Given the description of an element on the screen output the (x, y) to click on. 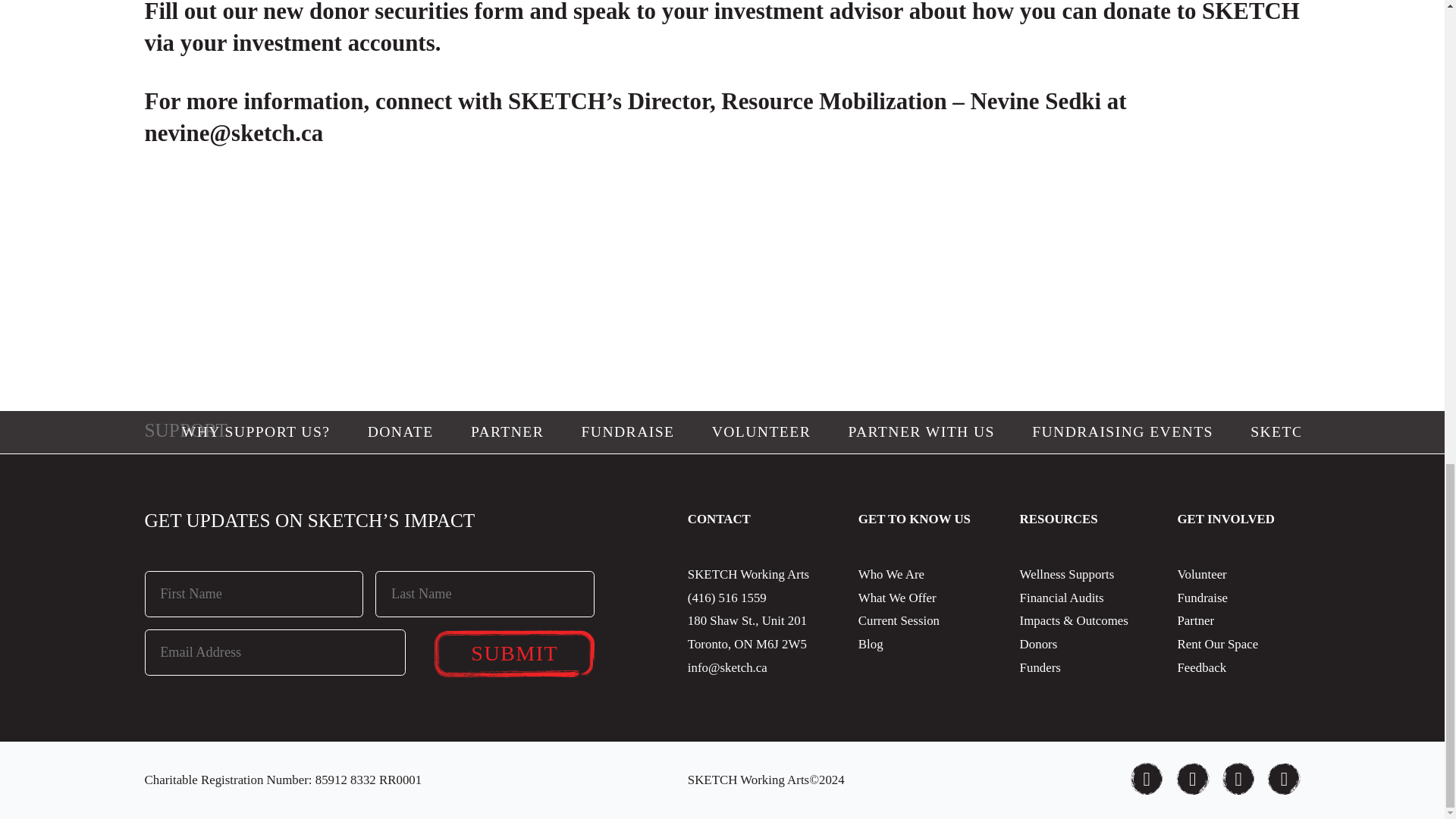
Submit (513, 653)
WHY SUPPORT US? (256, 431)
Wellness Supports (1067, 574)
FUNDRAISING EVENTS (1122, 431)
What We Offer (897, 597)
Donors (1039, 644)
VOLUNTEER (760, 431)
Current Session (899, 620)
Blog (871, 644)
PARTNER WITH US (920, 431)
